Given the description of an element on the screen output the (x, y) to click on. 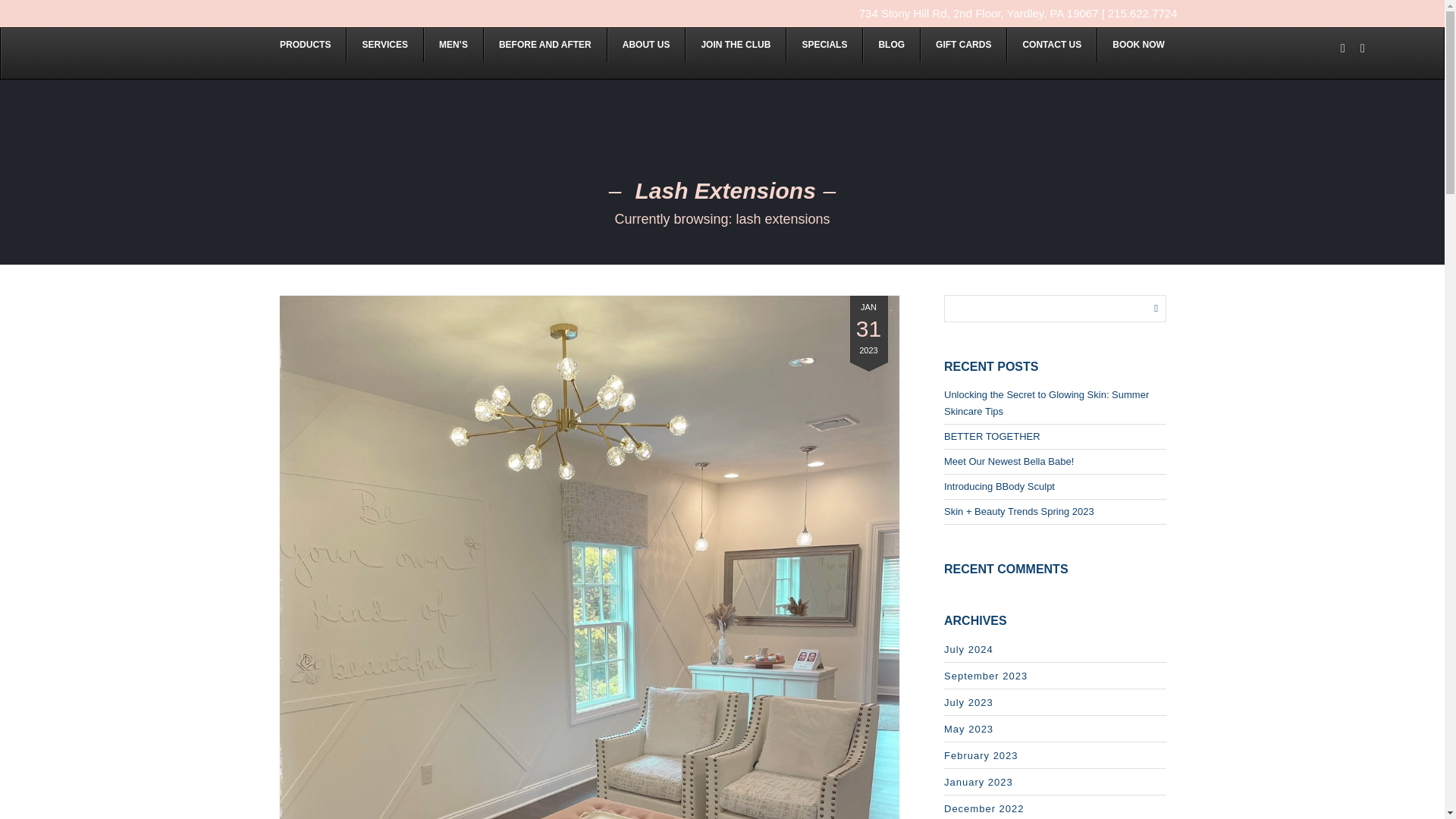
SERVICES (384, 44)
Instagram (1362, 47)
215.622.7724 (1142, 12)
Facebook (1342, 47)
PRODUCTS (305, 44)
734 Stony Hill Rd, 2nd Floor, Yardley, PA 19067 (979, 12)
